Given the description of an element on the screen output the (x, y) to click on. 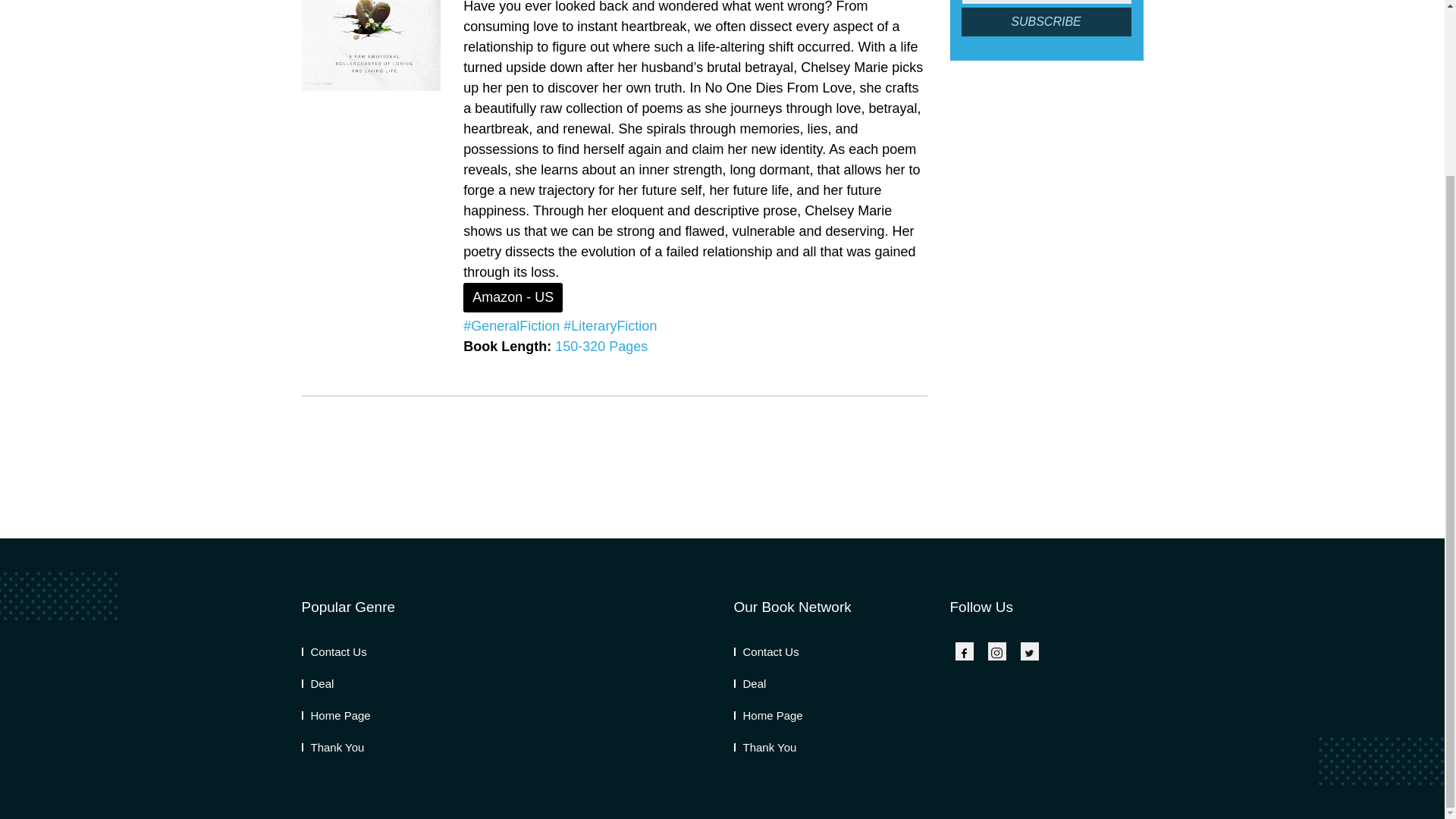
Deal (317, 683)
Amazon - US (512, 297)
Home Page (336, 715)
Home Page (768, 715)
Thank You (764, 747)
Contact Us (333, 651)
150-320 Pages (600, 346)
Contact Us (766, 651)
Subscribe (1045, 21)
Thank You (333, 747)
Subscribe (1045, 21)
Deal (750, 683)
